Given the description of an element on the screen output the (x, y) to click on. 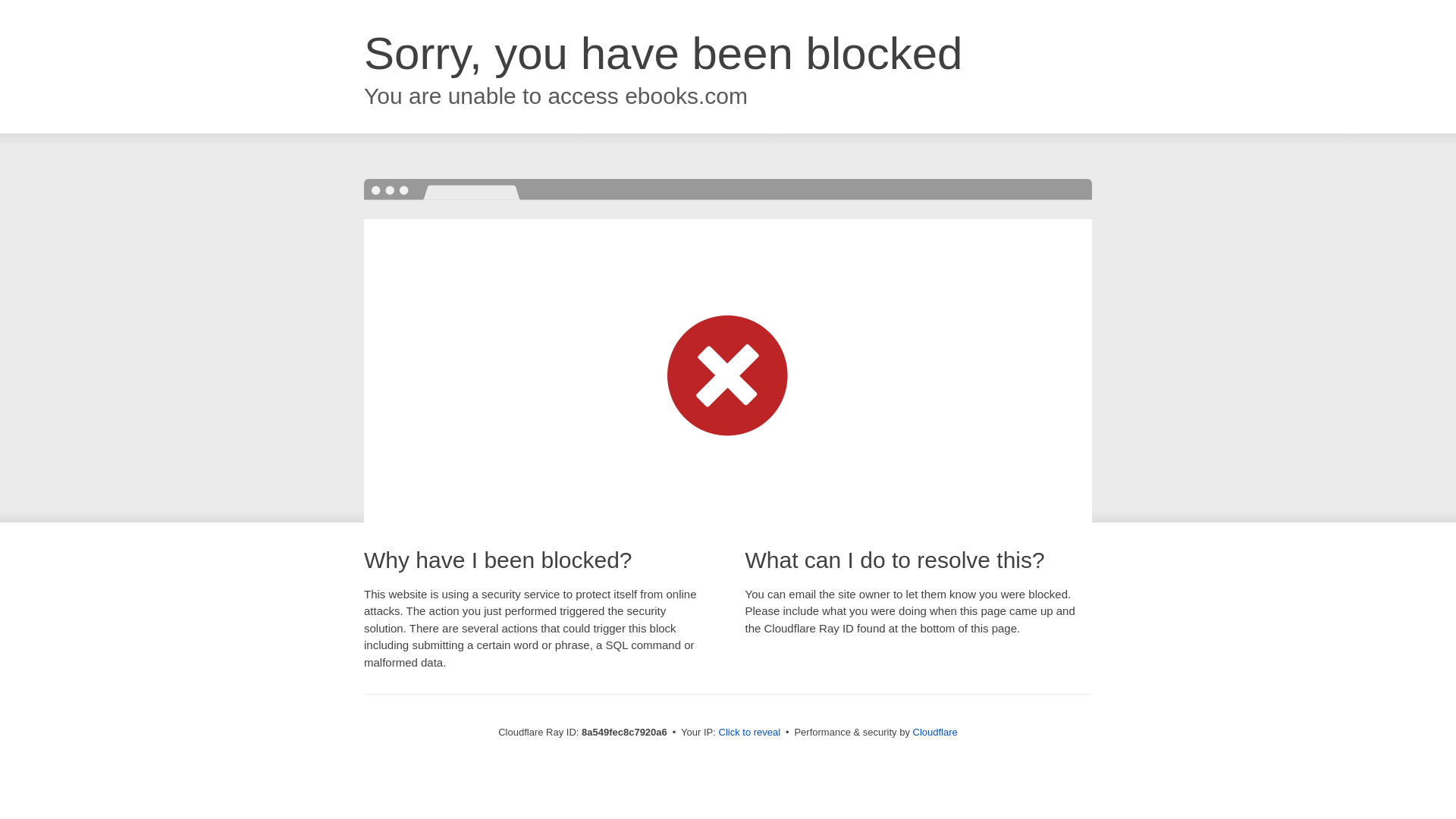
Click to reveal (749, 732)
Cloudflare (935, 731)
